Given the description of an element on the screen output the (x, y) to click on. 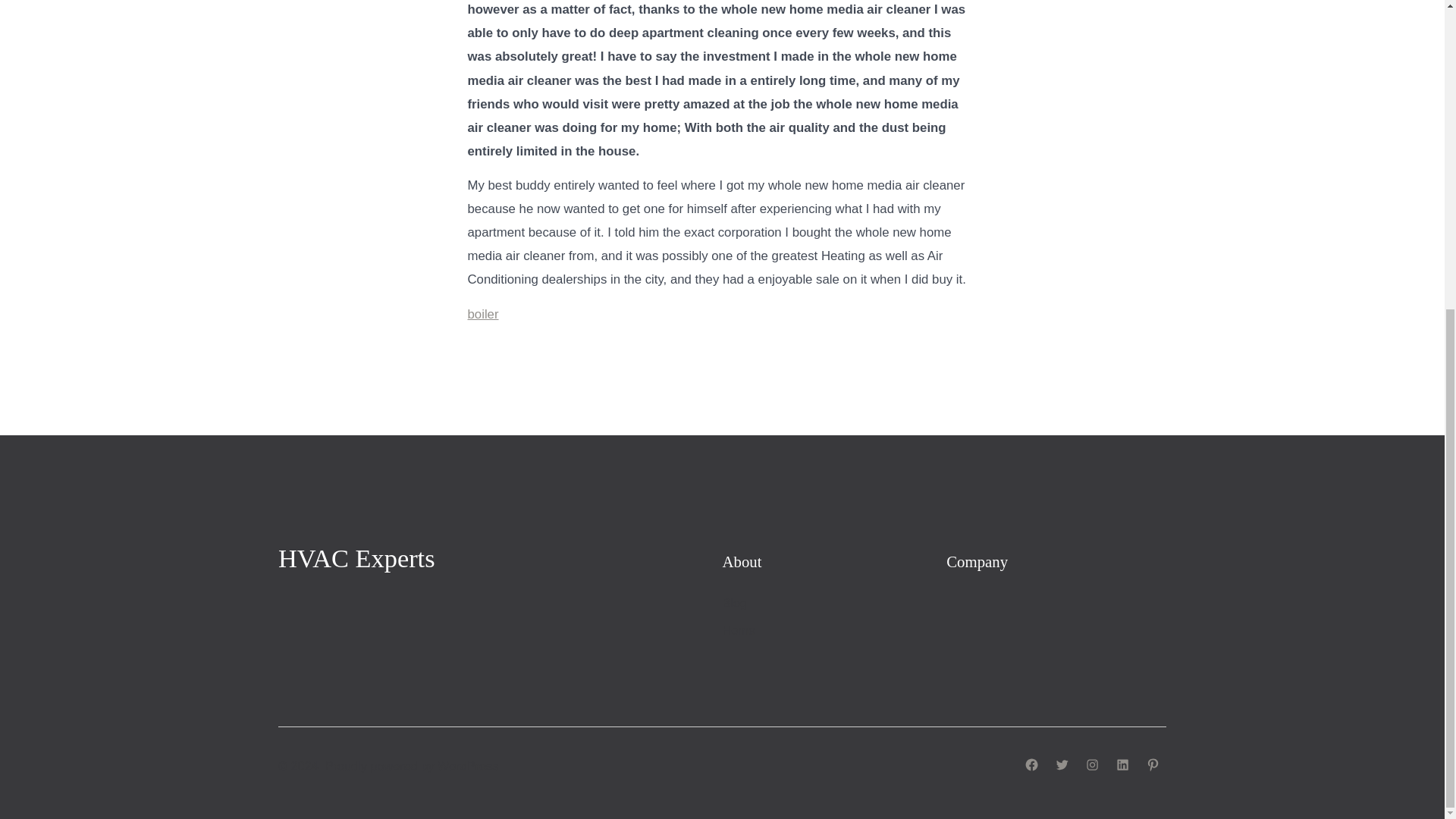
boiler (482, 314)
Home (738, 630)
HVAC Experts (356, 559)
Blog (734, 602)
